Given the description of an element on the screen output the (x, y) to click on. 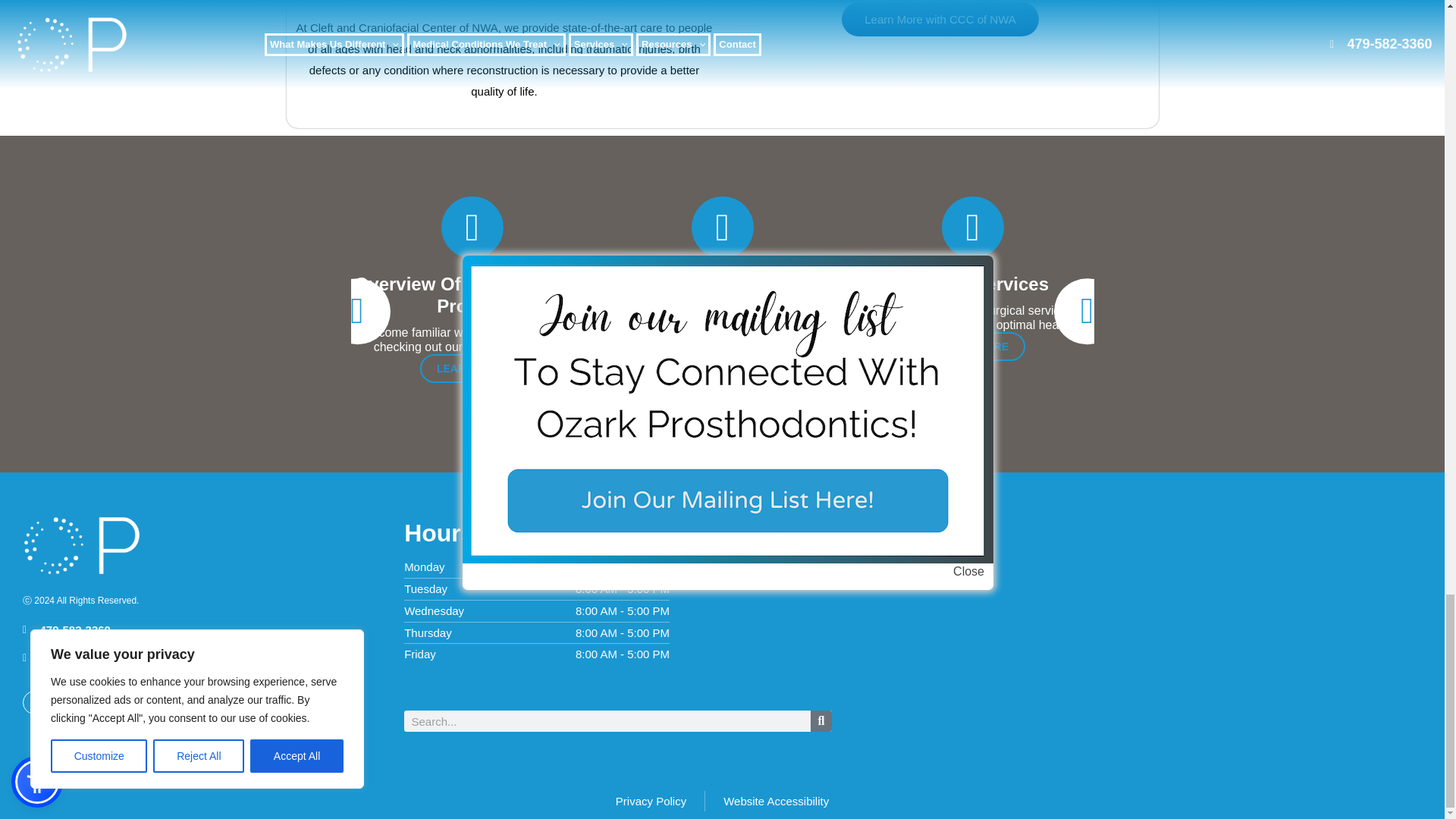
Ozark Prosthodontics Fayetteville AR (1188, 627)
